Given the description of an element on the screen output the (x, y) to click on. 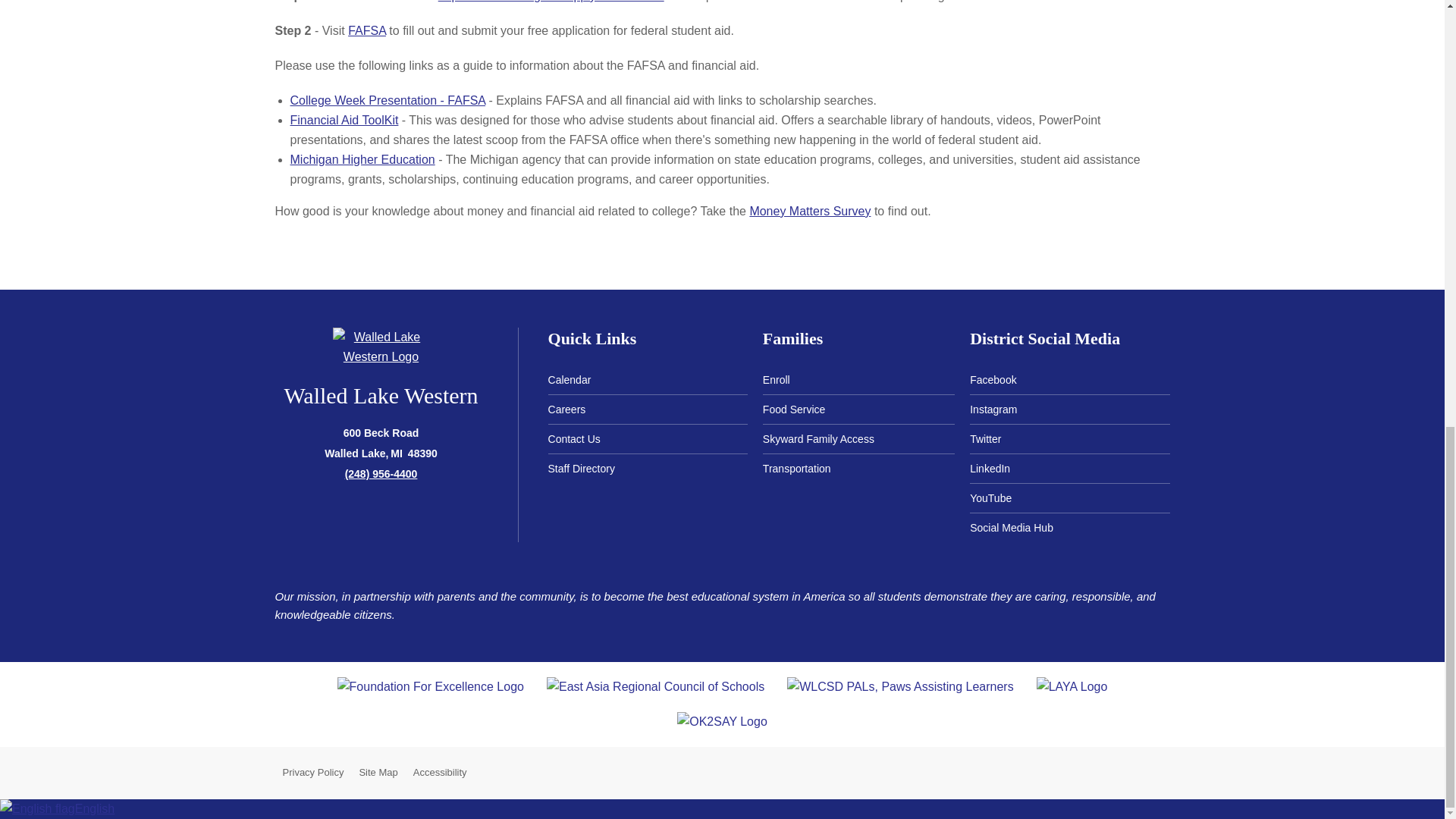
Powered by Finalsite opens in a new window (1219, 770)
